Given the description of an element on the screen output the (x, y) to click on. 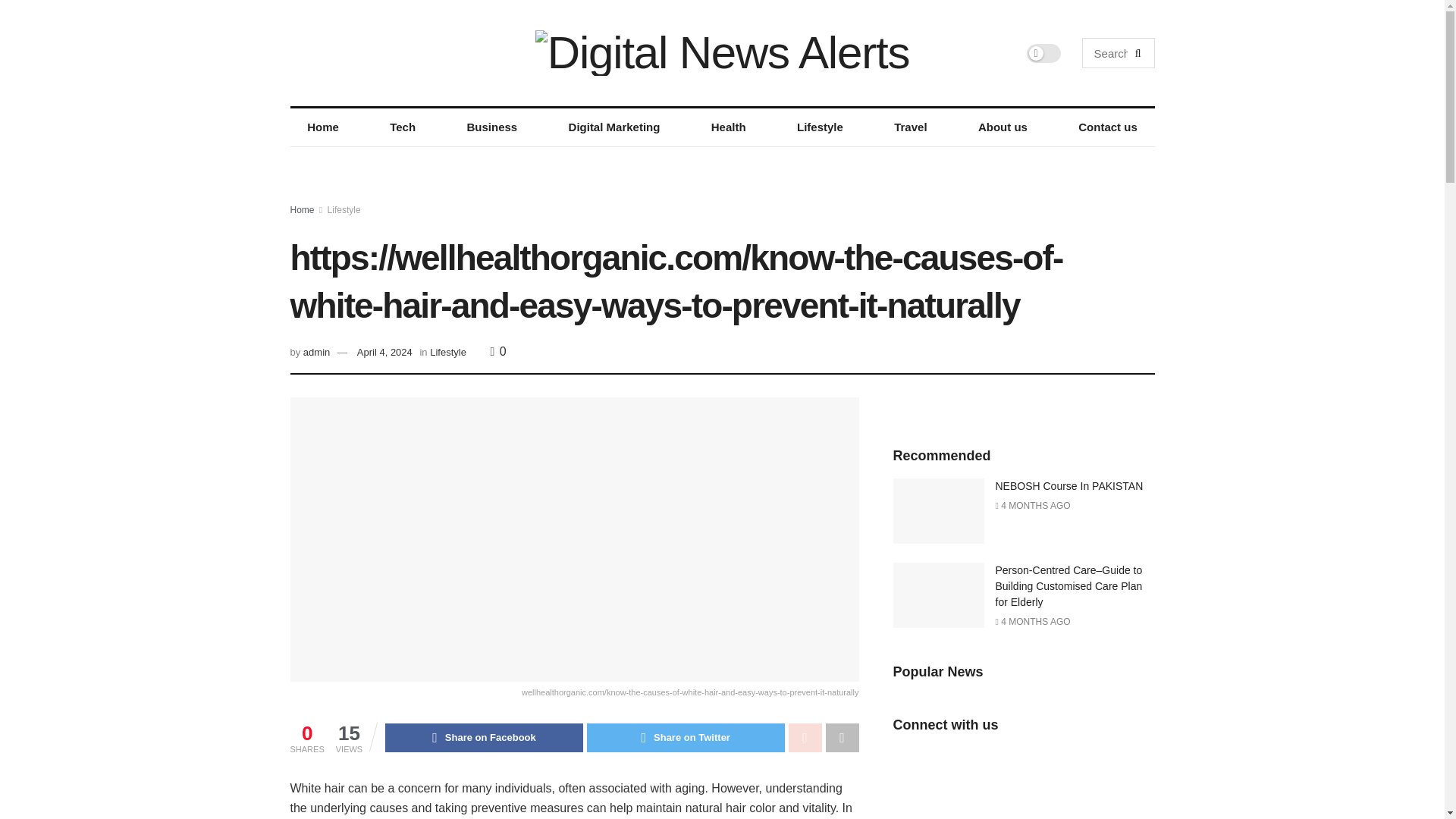
Share on Facebook (484, 737)
Home (322, 127)
April 4, 2024 (384, 351)
Lifestyle (344, 209)
Home (301, 209)
admin (316, 351)
Contact us (1107, 127)
Health (728, 127)
0 (498, 350)
Travel (910, 127)
About us (1001, 127)
Digital Marketing (614, 127)
Business (491, 127)
Lifestyle (819, 127)
Share on Twitter (685, 737)
